Given the description of an element on the screen output the (x, y) to click on. 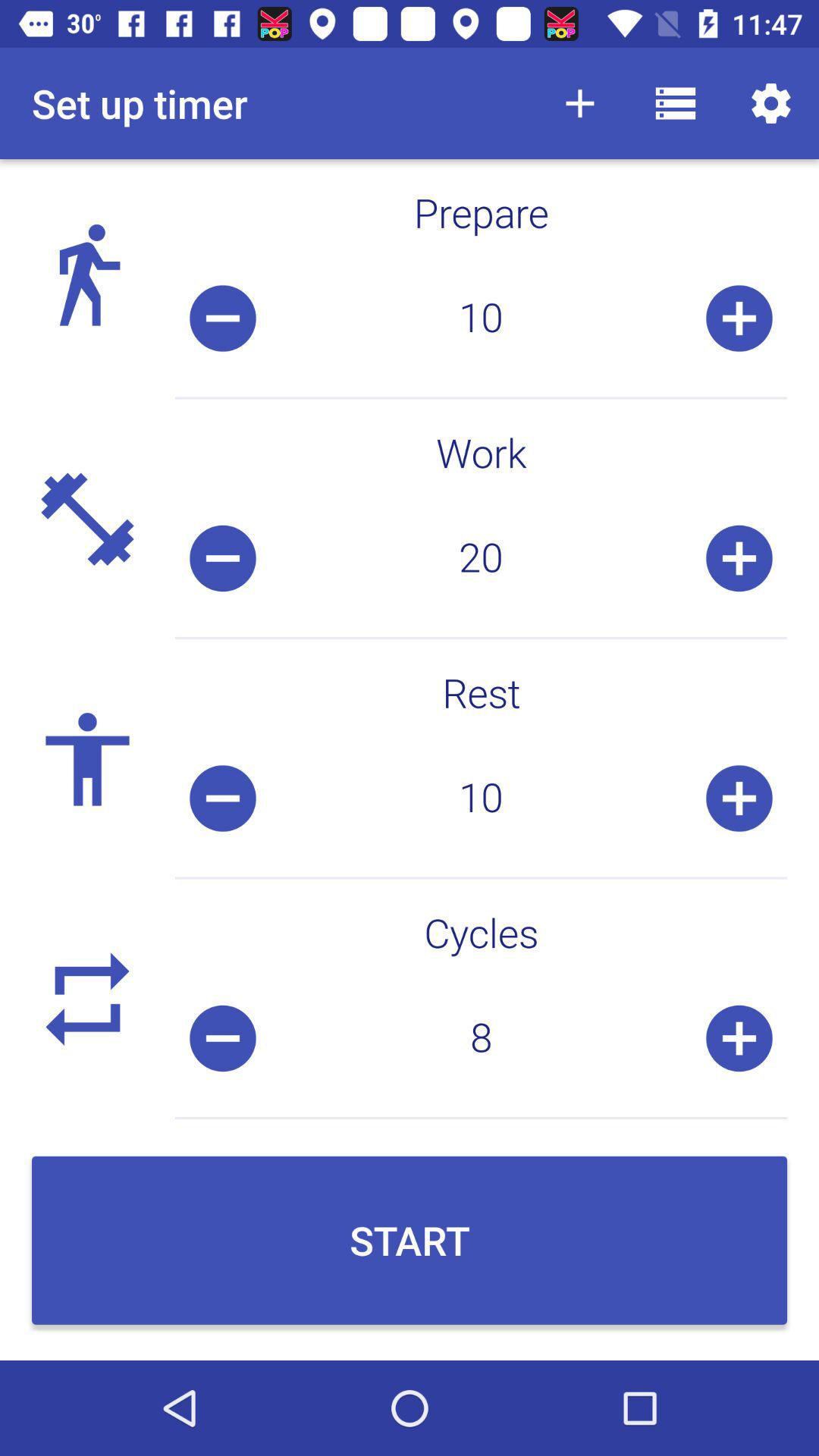
press the item above the prepare icon (771, 103)
